Given the description of an element on the screen output the (x, y) to click on. 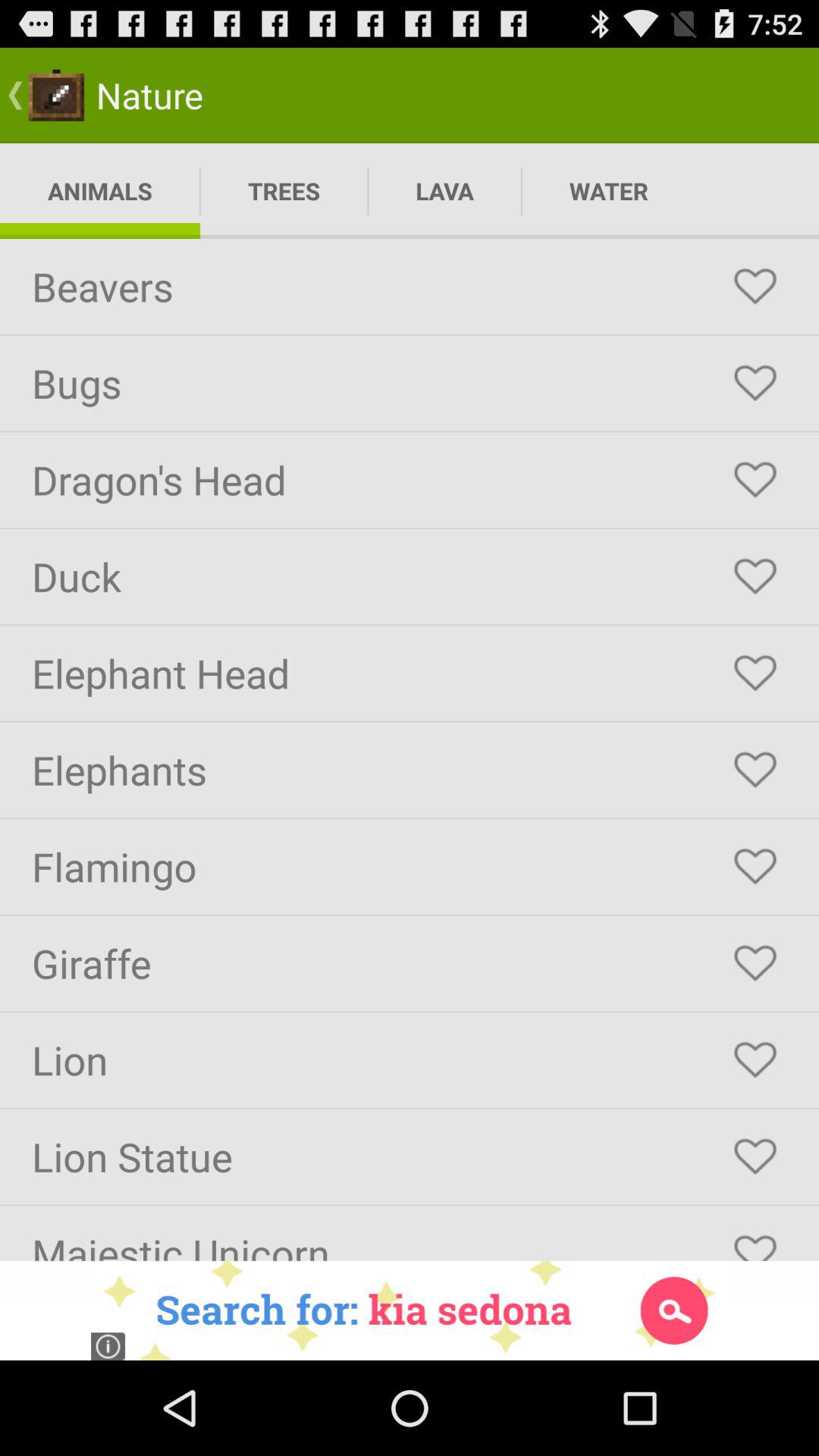
favorite beavers (755, 286)
